Given the description of an element on the screen output the (x, y) to click on. 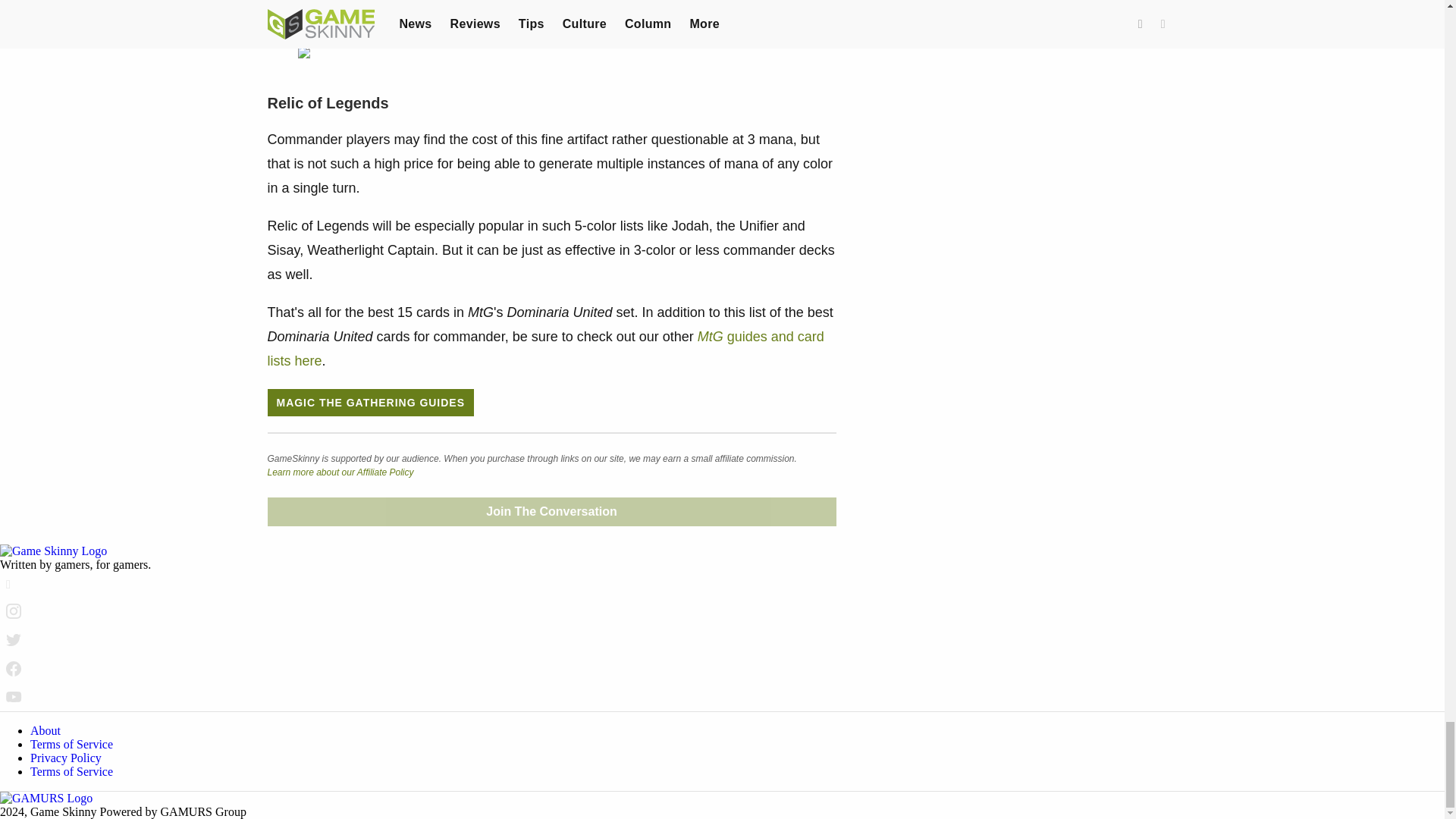
Join The Conversation (550, 511)
